Given the description of an element on the screen output the (x, y) to click on. 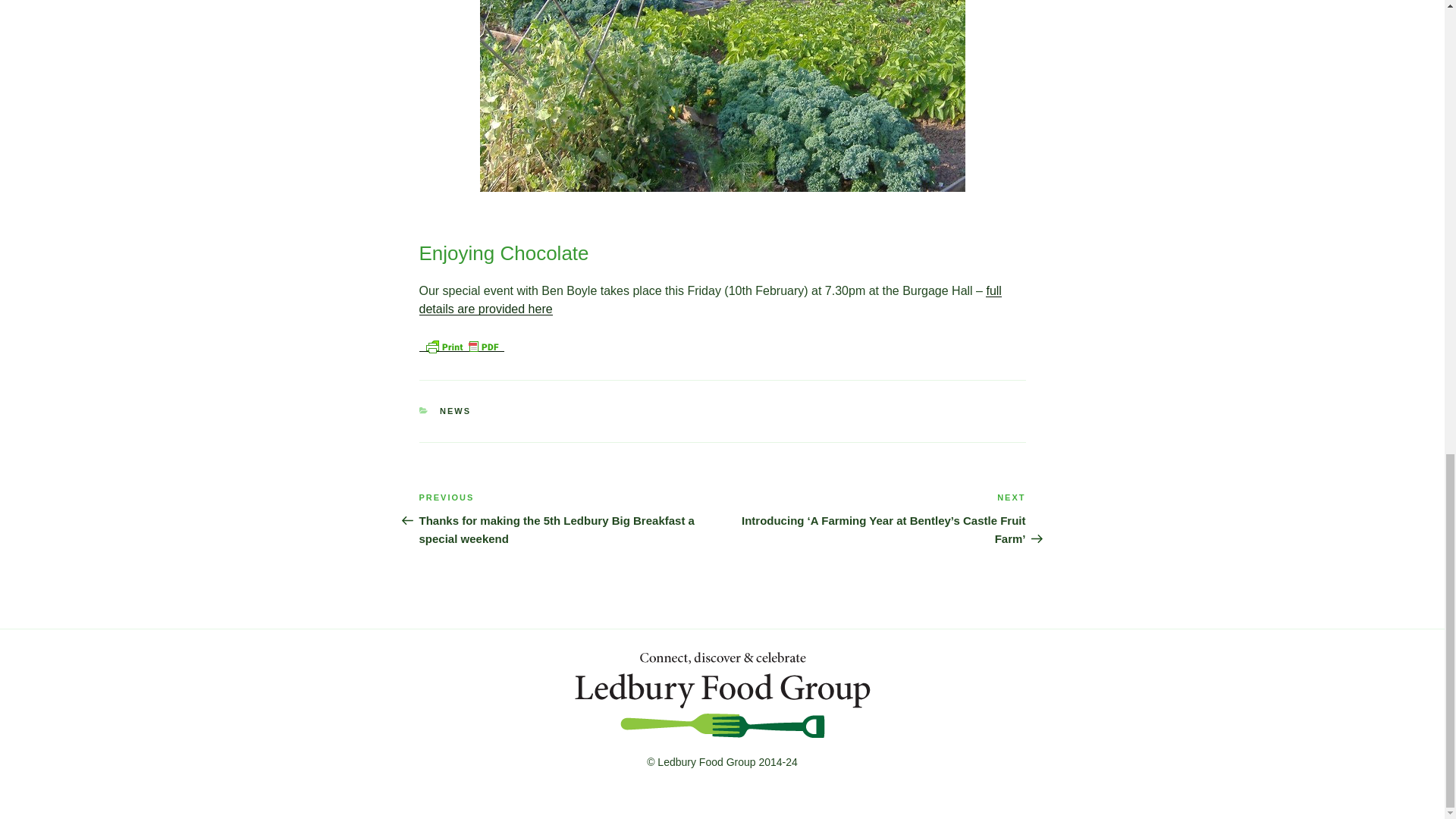
full details are provided here (710, 299)
NEWS (454, 410)
